Given the description of an element on the screen output the (x, y) to click on. 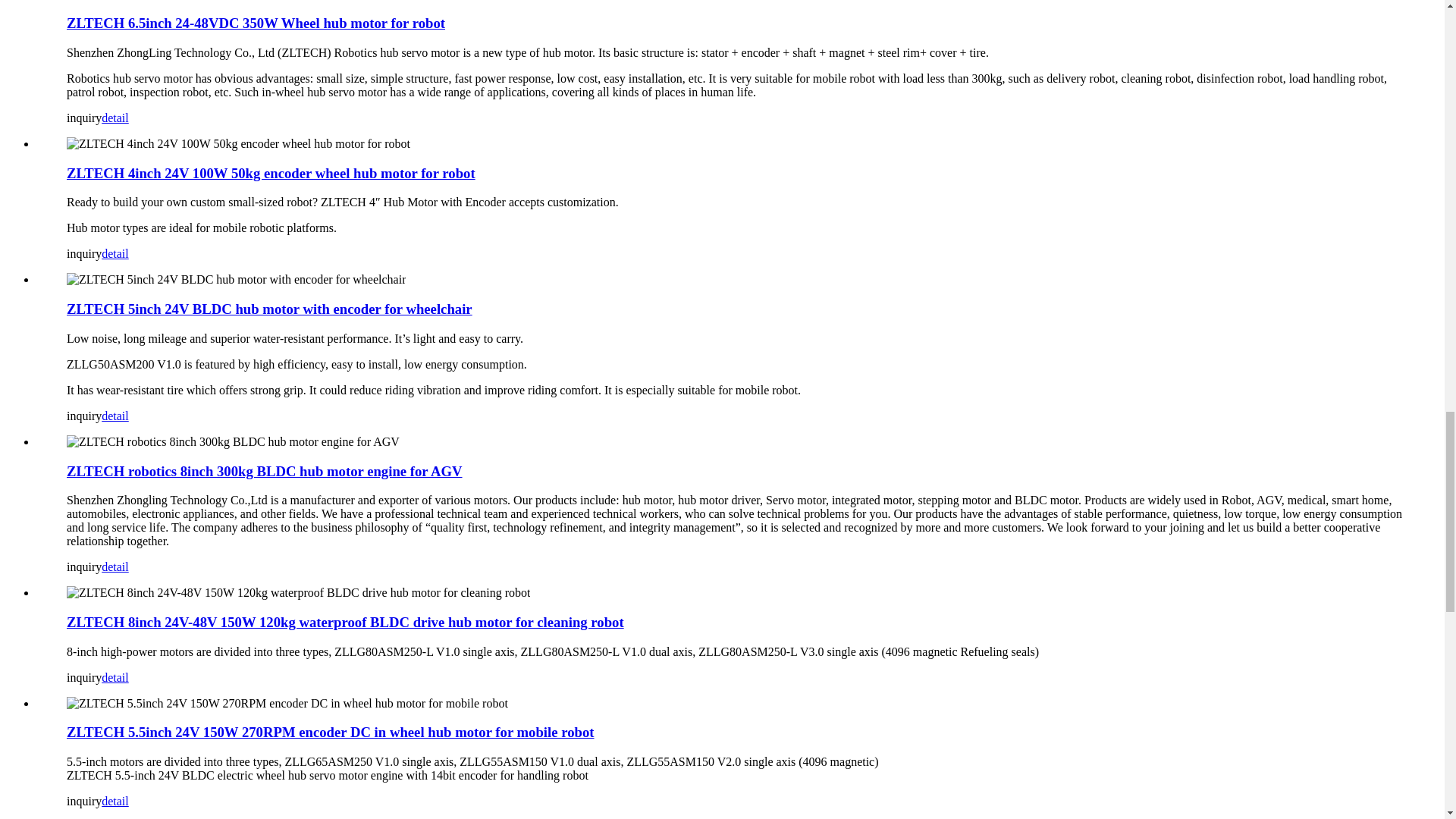
ZLTECH 4inch 24V 100W 50kg encoder wheel hub motor for robot (271, 172)
ZLTECH robotics 8inch 300kg BLDC hub motor engine for AGV (264, 471)
ZLTECH 6.5inch 24-48VDC 350W Wheel hub motor for robot (255, 23)
ZLTECH 5inch 24V BLDC hub motor with encoder for wheelchair (268, 308)
